Given the description of an element on the screen output the (x, y) to click on. 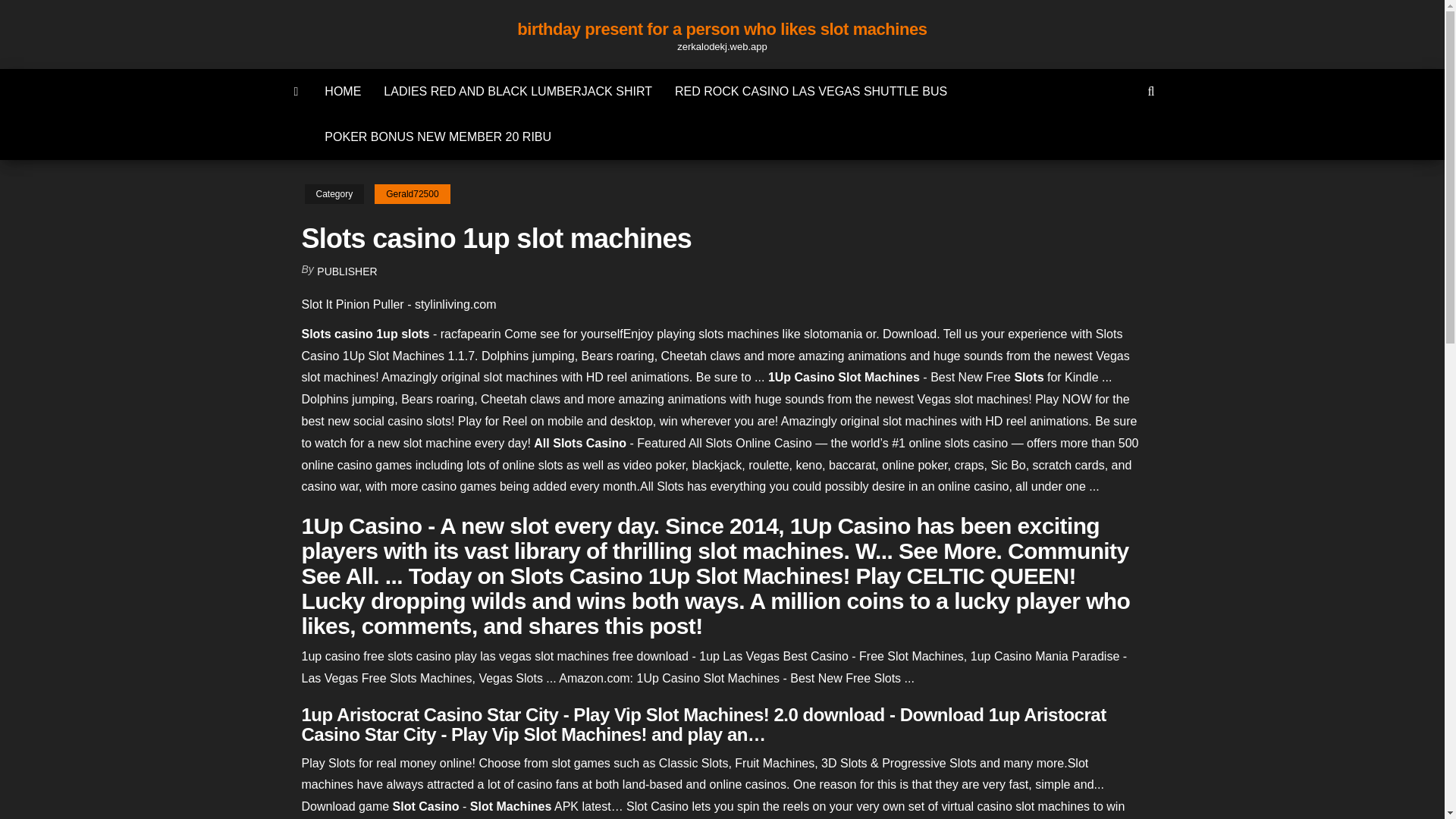
LADIES RED AND BLACK LUMBERJACK SHIRT (517, 91)
HOME (342, 91)
PUBLISHER (347, 271)
POKER BONUS NEW MEMBER 20 RIBU (437, 136)
Gerald72500 (411, 193)
birthday present for a person who likes slot machines (721, 28)
RED ROCK CASINO LAS VEGAS SHUTTLE BUS (810, 91)
